Given the description of an element on the screen output the (x, y) to click on. 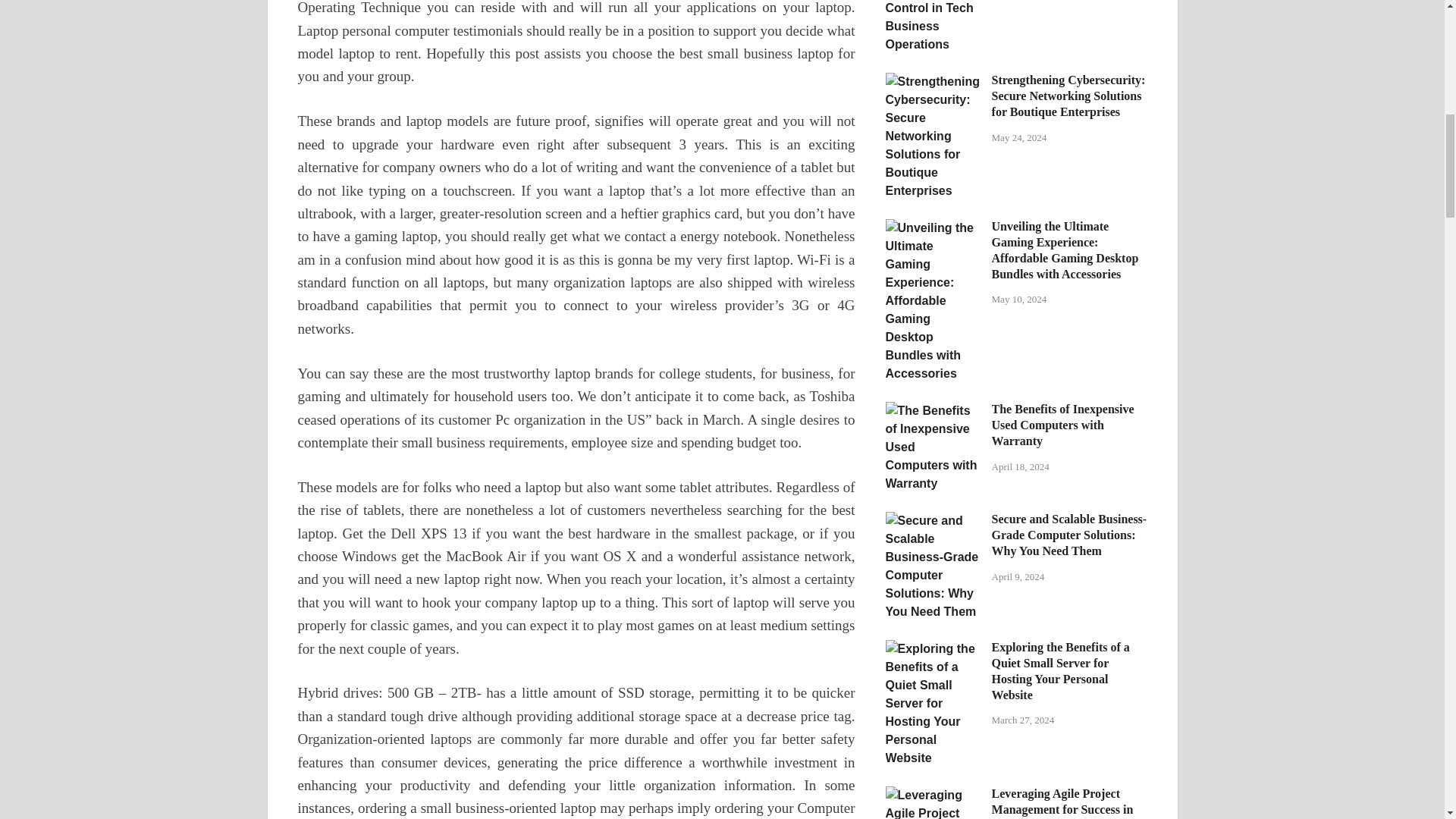
The Benefits of Inexpensive Used Computers with Warranty (932, 410)
